Given the description of an element on the screen output the (x, y) to click on. 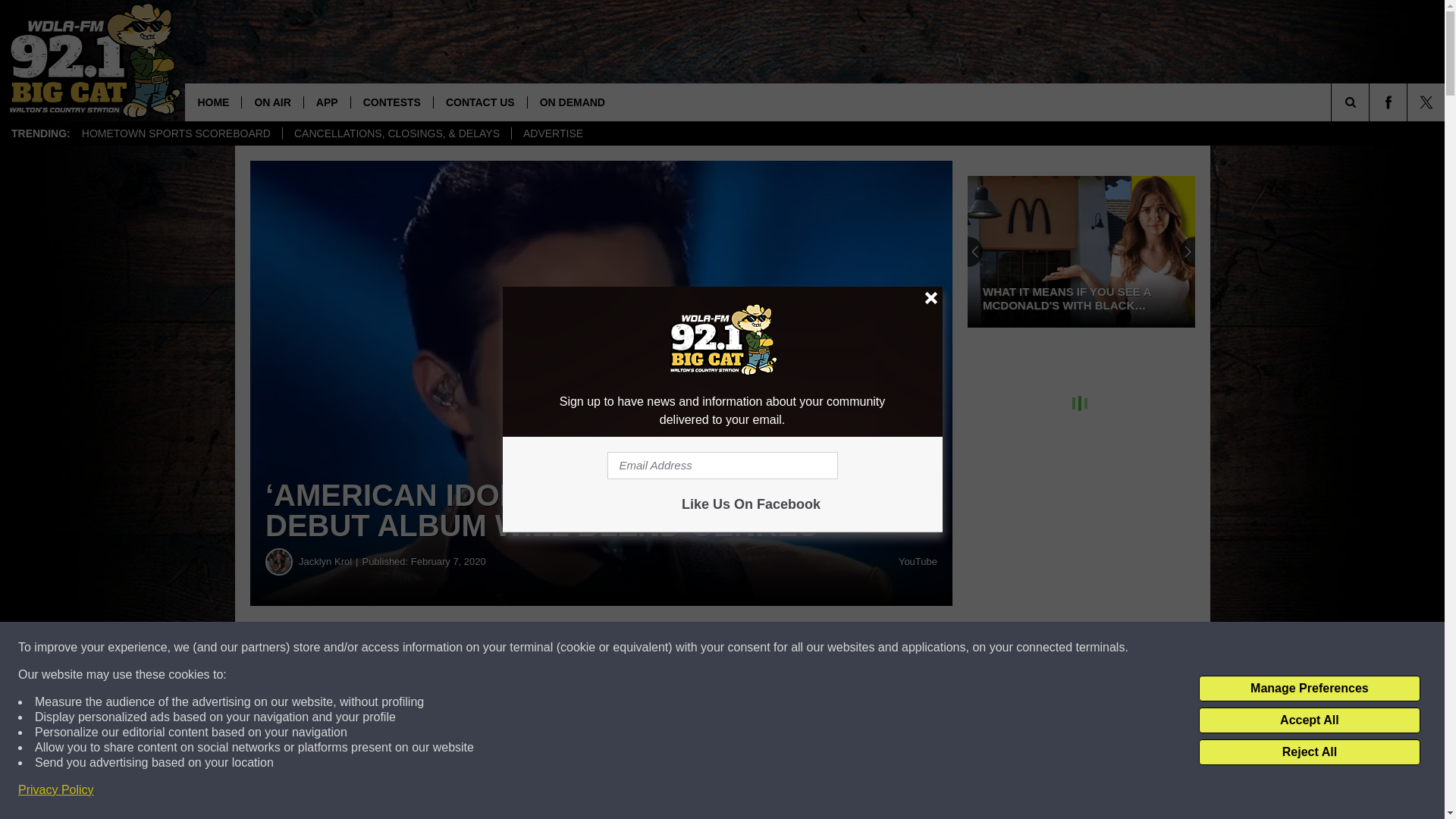
Manage Preferences (1309, 688)
ADVERTISE (552, 133)
ON DEMAND (572, 102)
SEARCH (1371, 102)
HOME (212, 102)
CONTACT US (479, 102)
Share on Facebook (460, 647)
Share on Twitter (741, 647)
ON AIR (271, 102)
APP (326, 102)
HOMETOWN SPORTS SCOREBOARD (175, 133)
SEARCH (1371, 102)
Email Address (722, 465)
CONTESTS (391, 102)
Reject All (1309, 751)
